Given the description of an element on the screen output the (x, y) to click on. 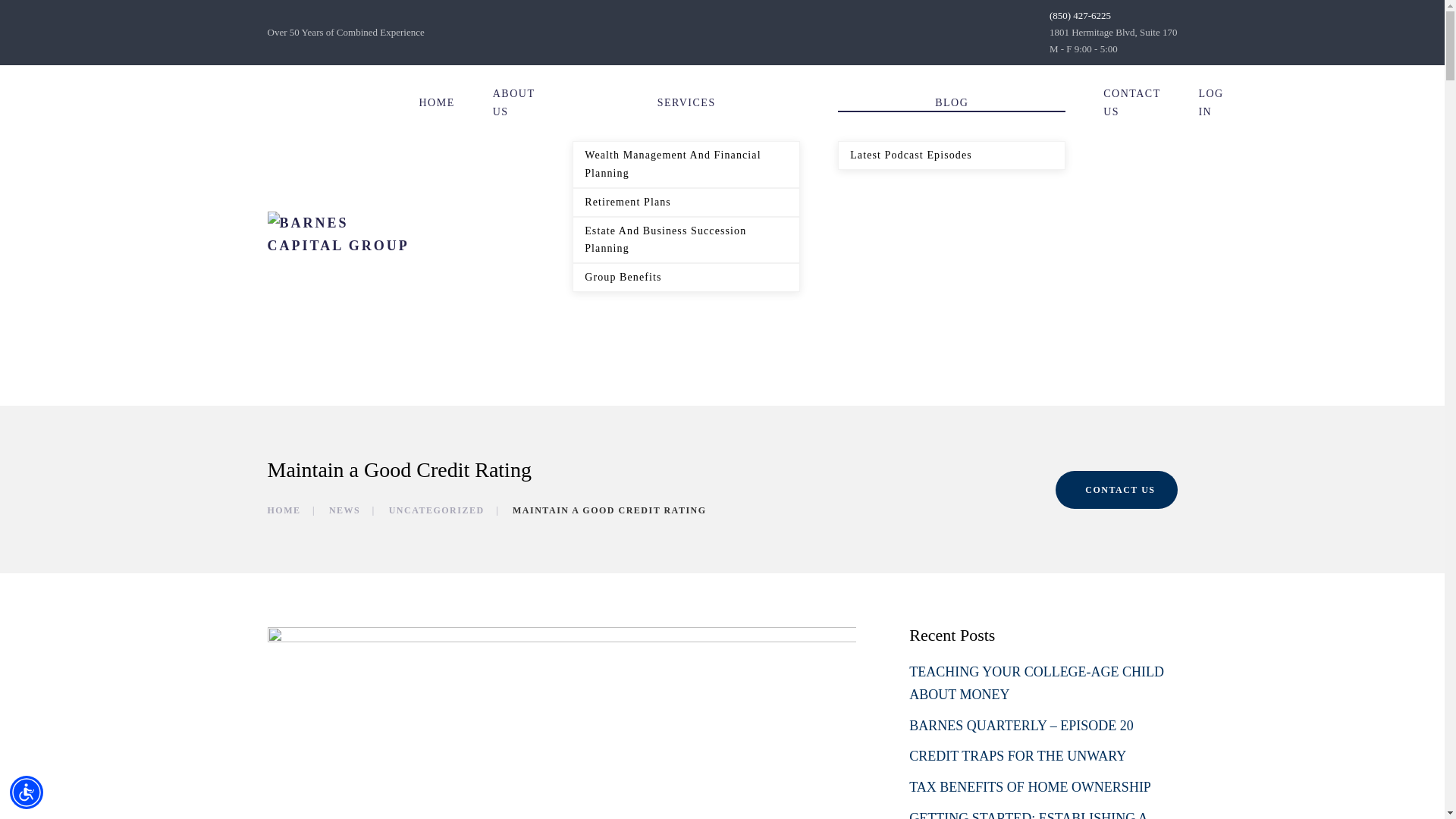
HOME (282, 510)
Wealth Management And Financial Planning (685, 164)
BLOG (951, 102)
Group Benefits (685, 276)
Accessibility Menu (26, 792)
Contact Us (1115, 489)
NEWS (344, 510)
UNCATEGORIZED (436, 510)
Retirement Plans (685, 202)
SERVICES (685, 102)
